Given the description of an element on the screen output the (x, y) to click on. 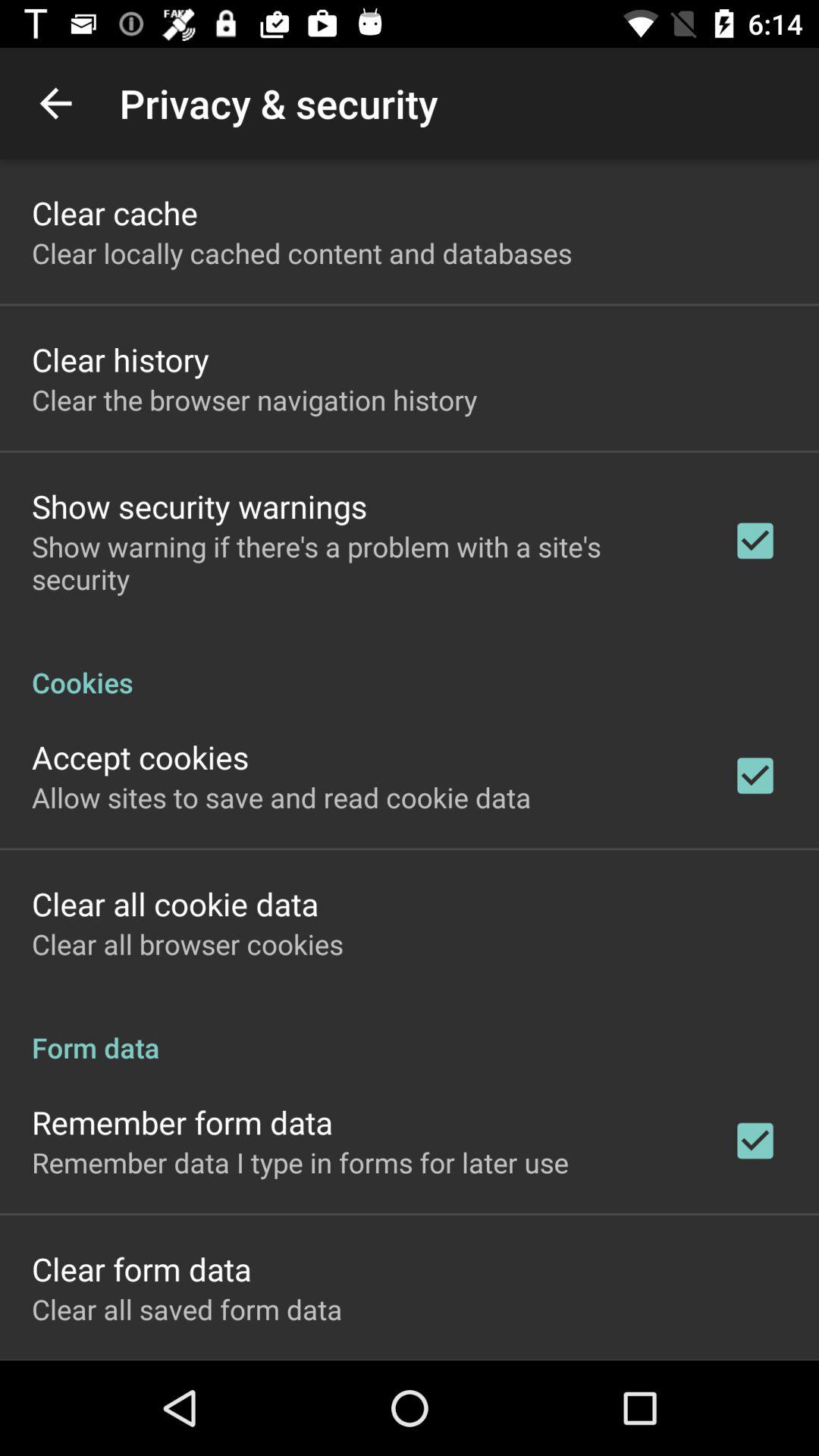
select icon above the allow sites to icon (140, 756)
